Given the description of an element on the screen output the (x, y) to click on. 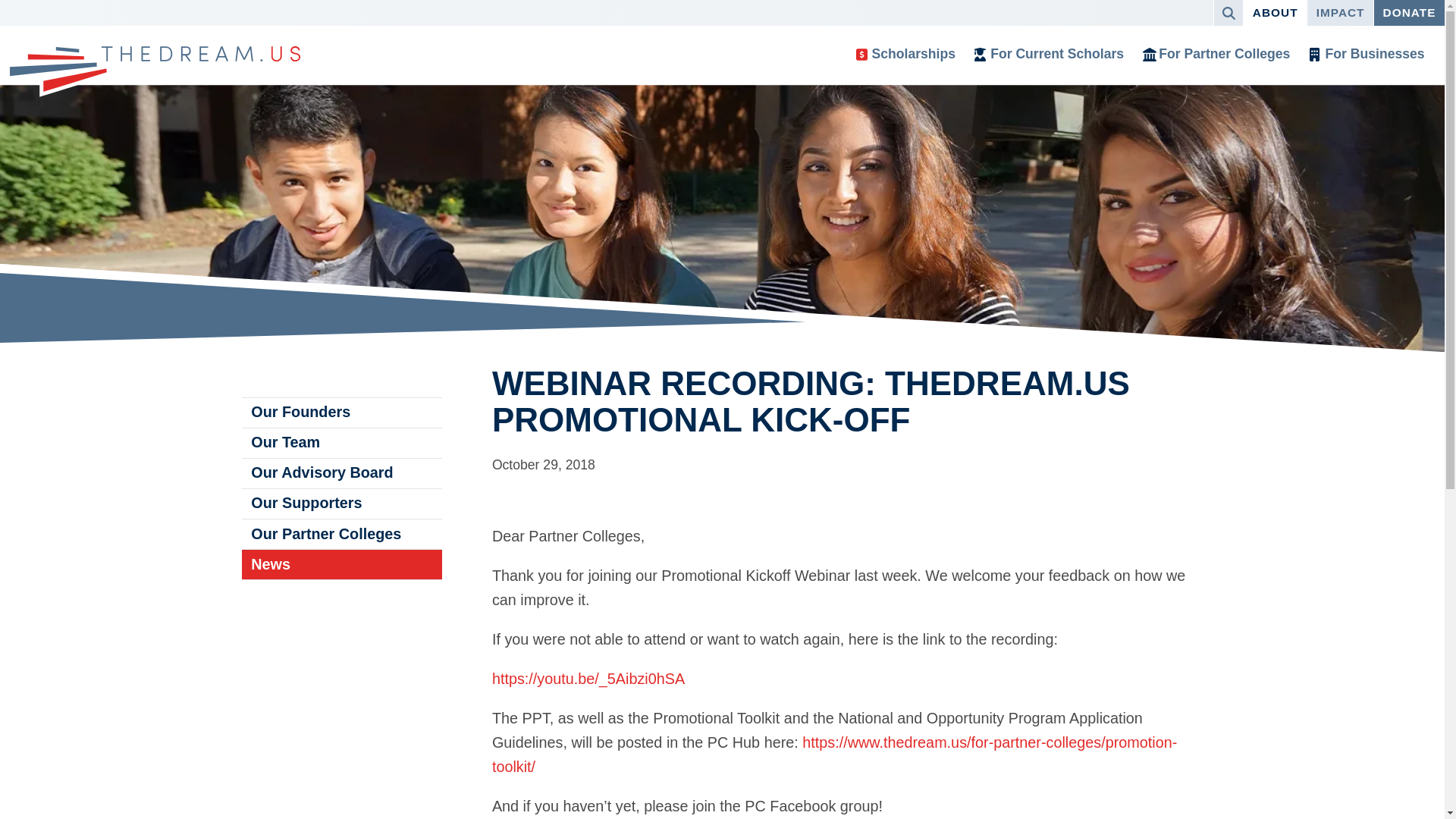
Scholarships (905, 54)
IMPACT (1340, 12)
For Partner Colleges (1217, 54)
Search for: (1224, 12)
For Businesses (1367, 54)
For Current Scholars (1049, 54)
SEARCH (1227, 12)
ABOUT (1274, 12)
